Given the description of an element on the screen output the (x, y) to click on. 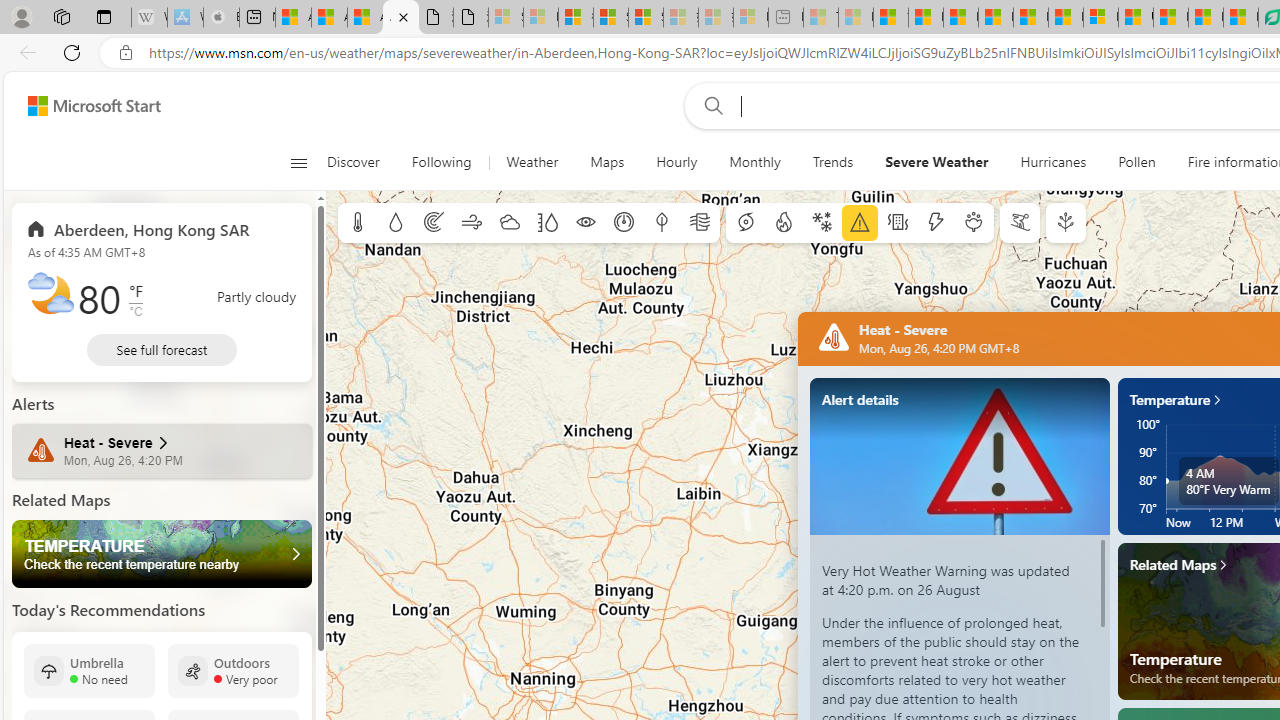
Temperature Check the recent temperature nearby (161, 553)
Microsoft Services Agreement - Sleeping (540, 17)
Humidity (547, 223)
Umbrella No need (89, 670)
Food and Drink - MSN (925, 17)
Maps (607, 162)
Winter weather (821, 223)
Hourly (676, 162)
Sign in to your Microsoft account - Sleeping (506, 17)
Temperature (161, 553)
